Given the description of an element on the screen output the (x, y) to click on. 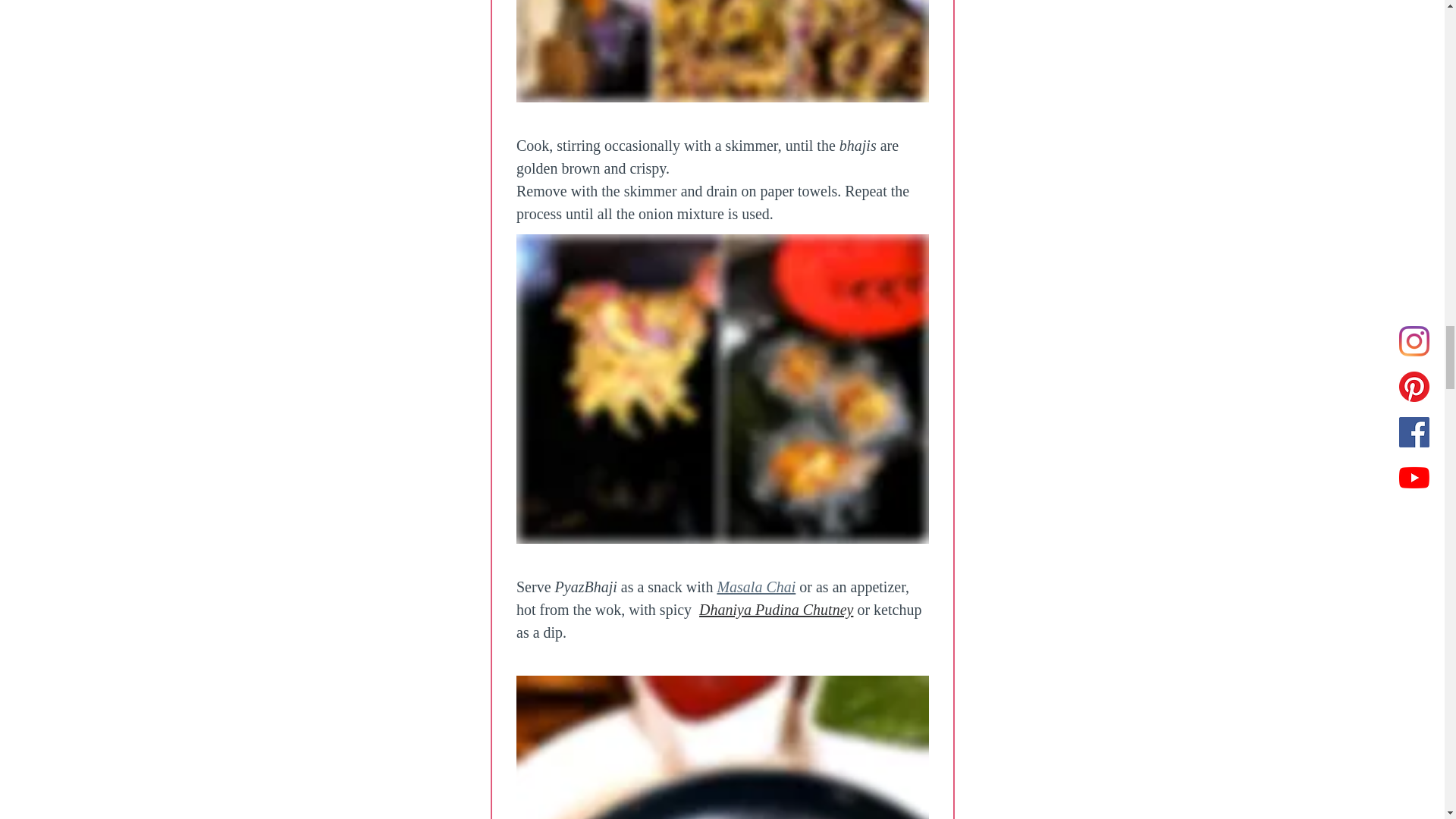
Dhaniya Pudina Chutney (775, 609)
Masala Chai (755, 586)
